Given the description of an element on the screen output the (x, y) to click on. 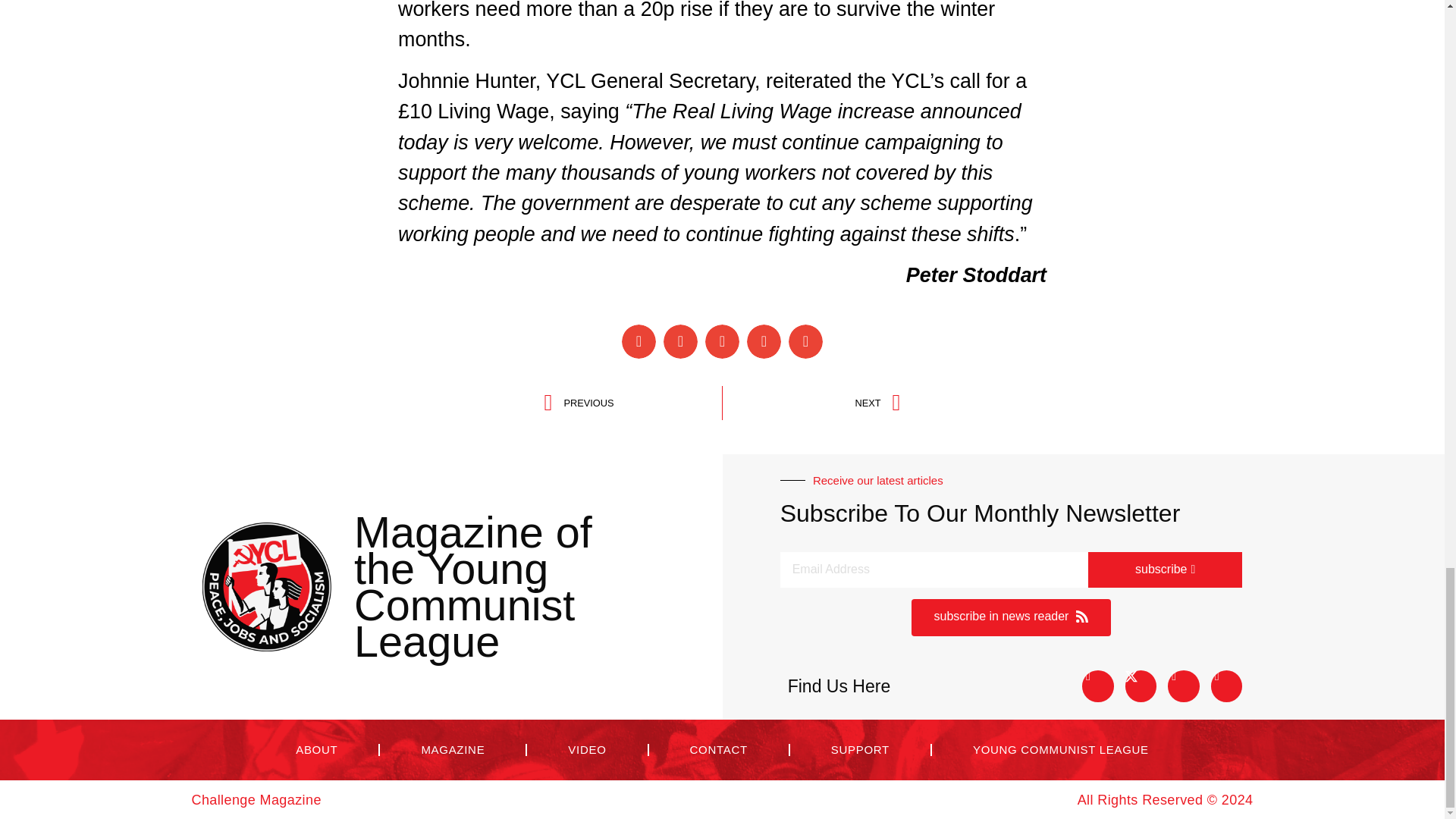
PREVIOUS (633, 402)
ABOUT (316, 749)
NEXT (472, 586)
VIDEO (811, 402)
subscribe (586, 749)
subscribe in news reader (1164, 570)
MAGAZINE (1011, 617)
